Given the description of an element on the screen output the (x, y) to click on. 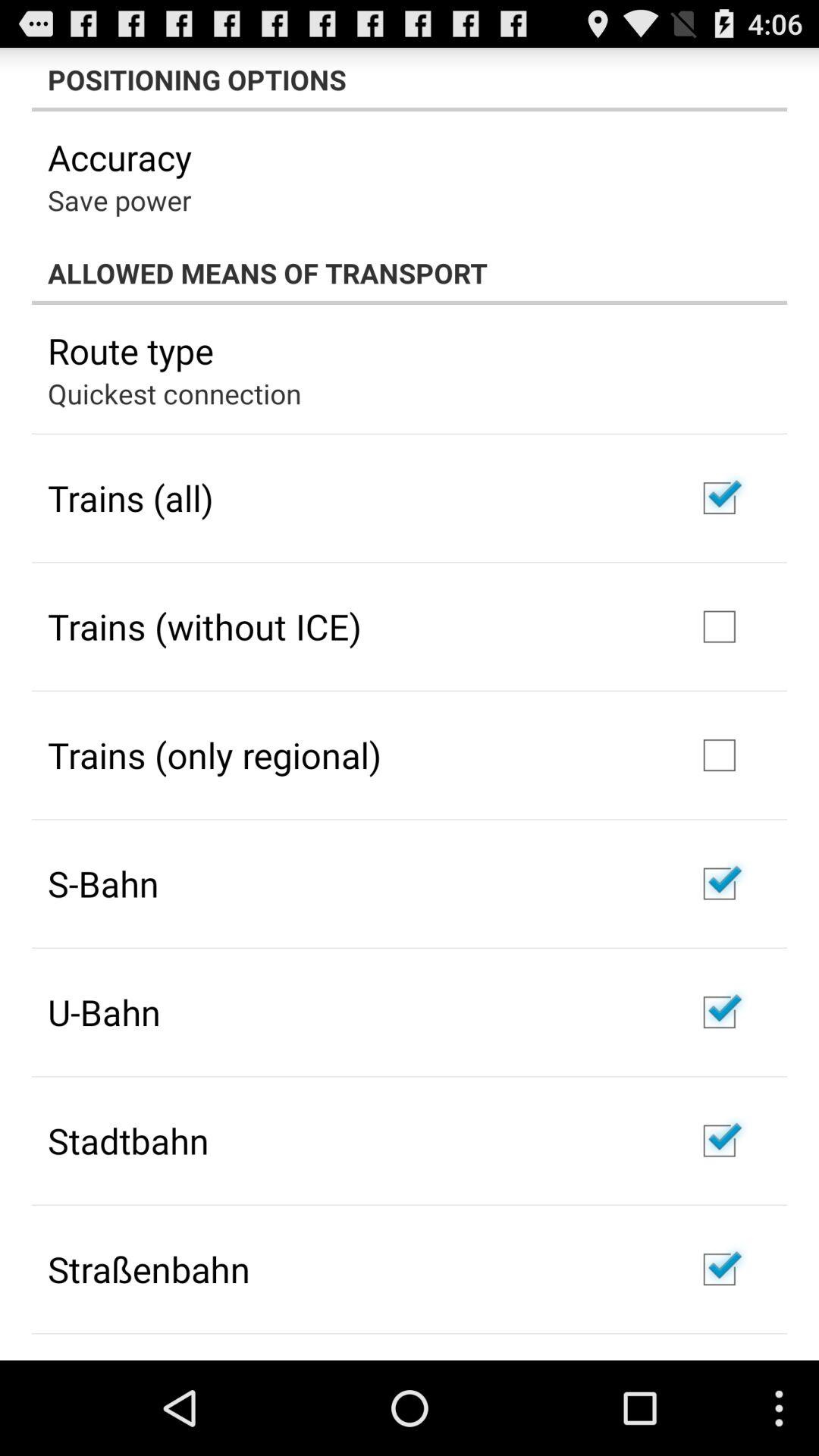
open the accuracy app (119, 157)
